Given the description of an element on the screen output the (x, y) to click on. 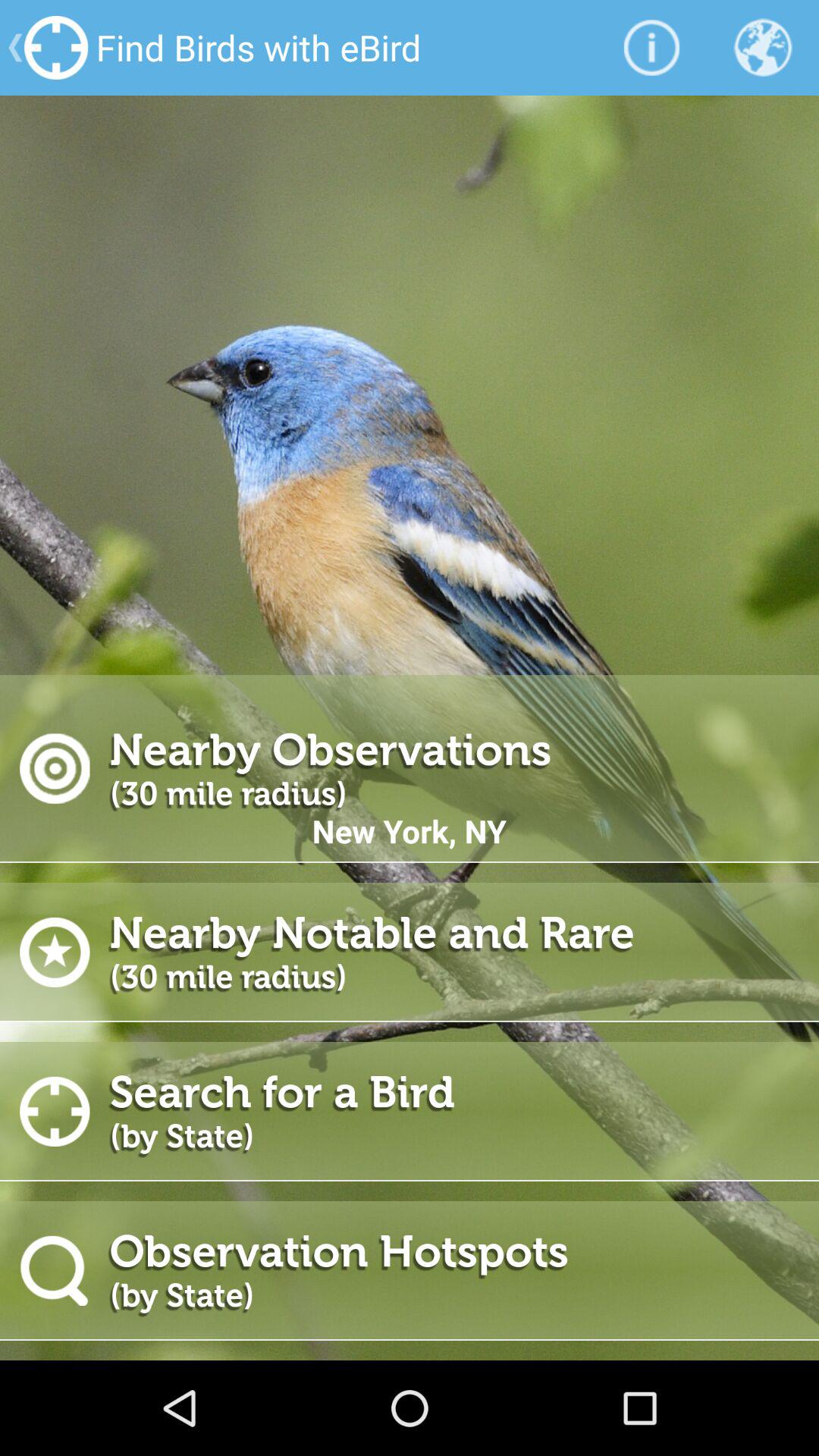
select icon to the right of find birds with app (651, 47)
